Given the description of an element on the screen output the (x, y) to click on. 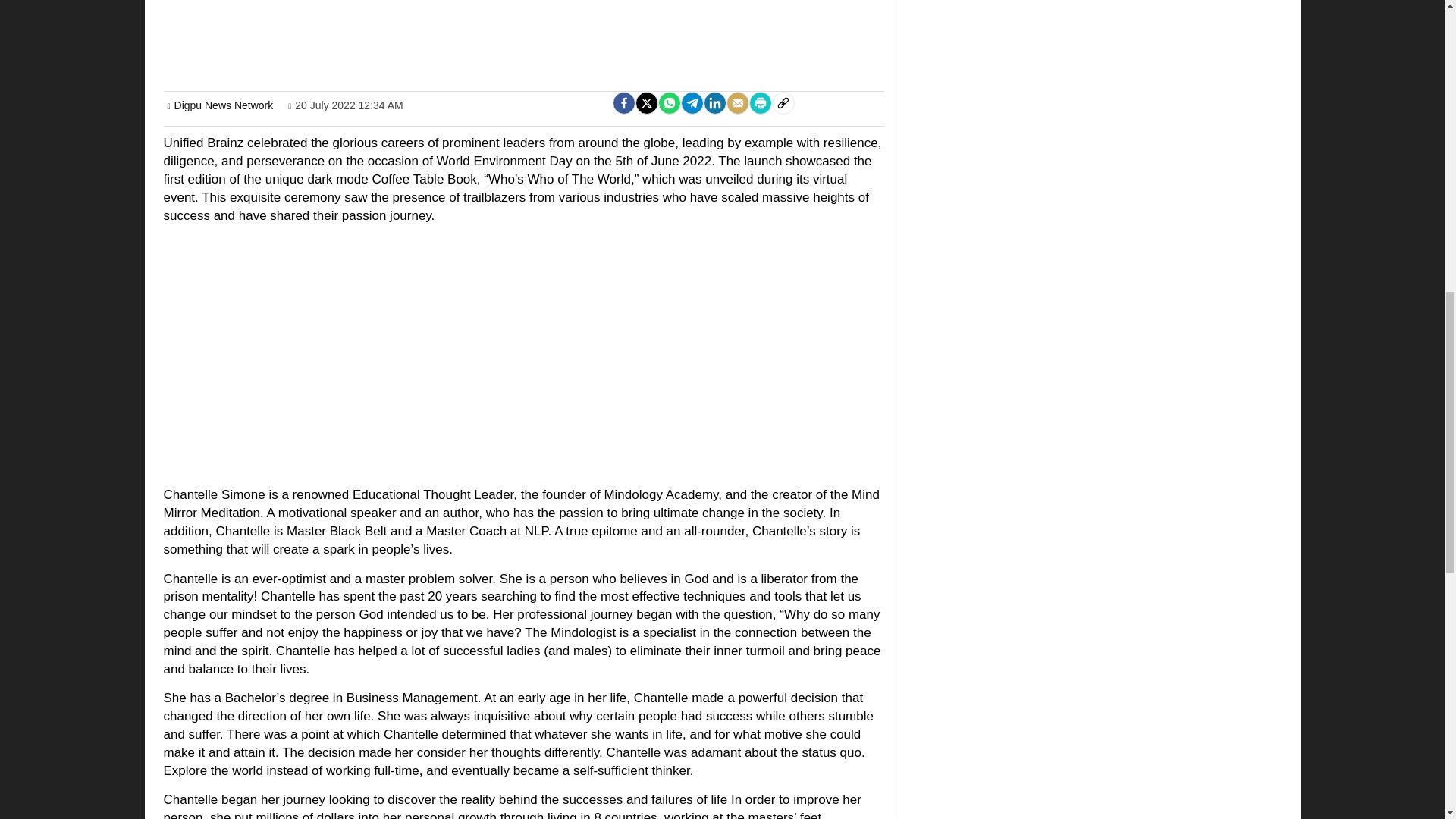
LinkedIn (714, 102)
Share by Email (737, 102)
